Given the description of an element on the screen output the (x, y) to click on. 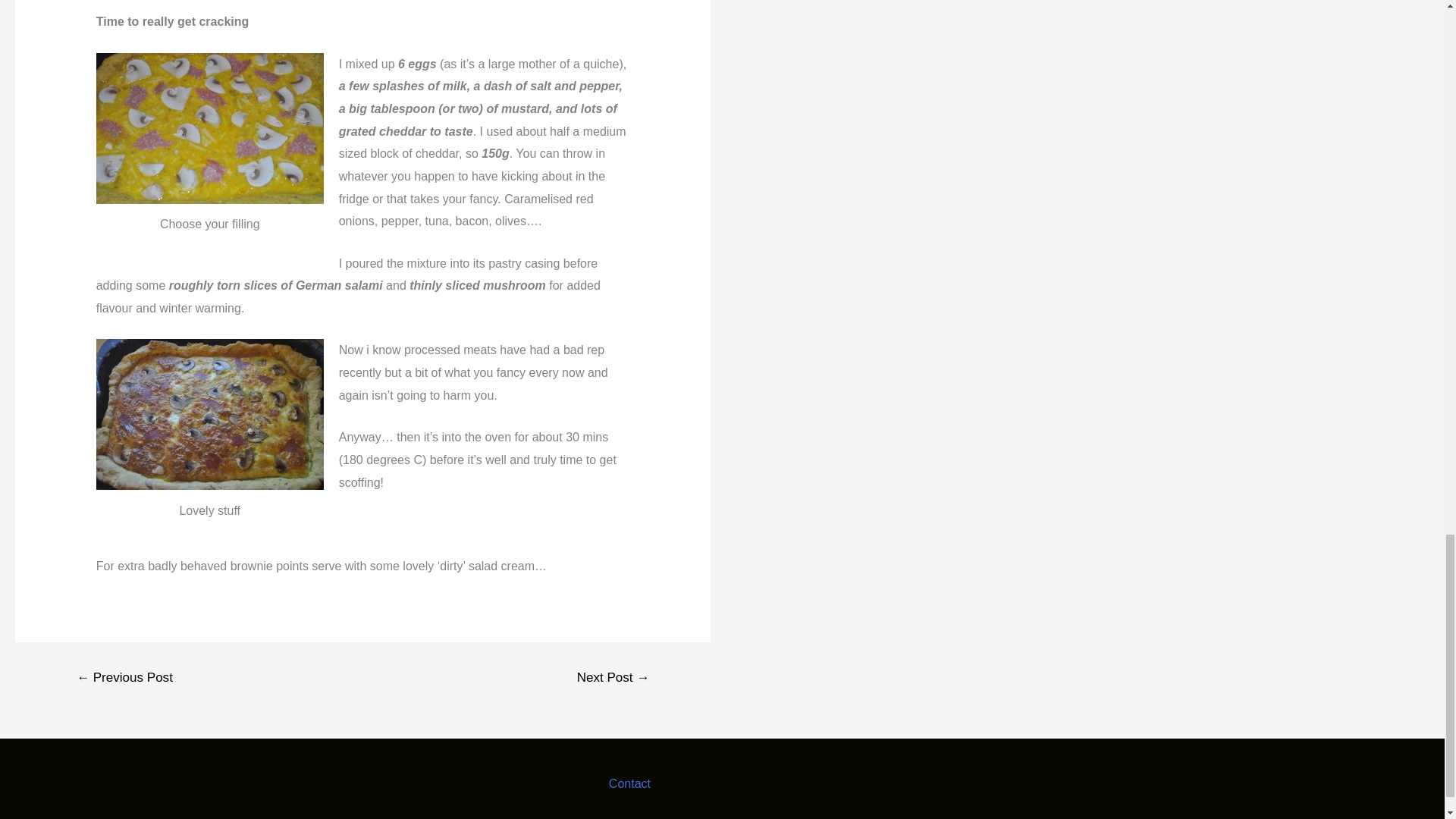
Contact (629, 783)
